Given the description of an element on the screen output the (x, y) to click on. 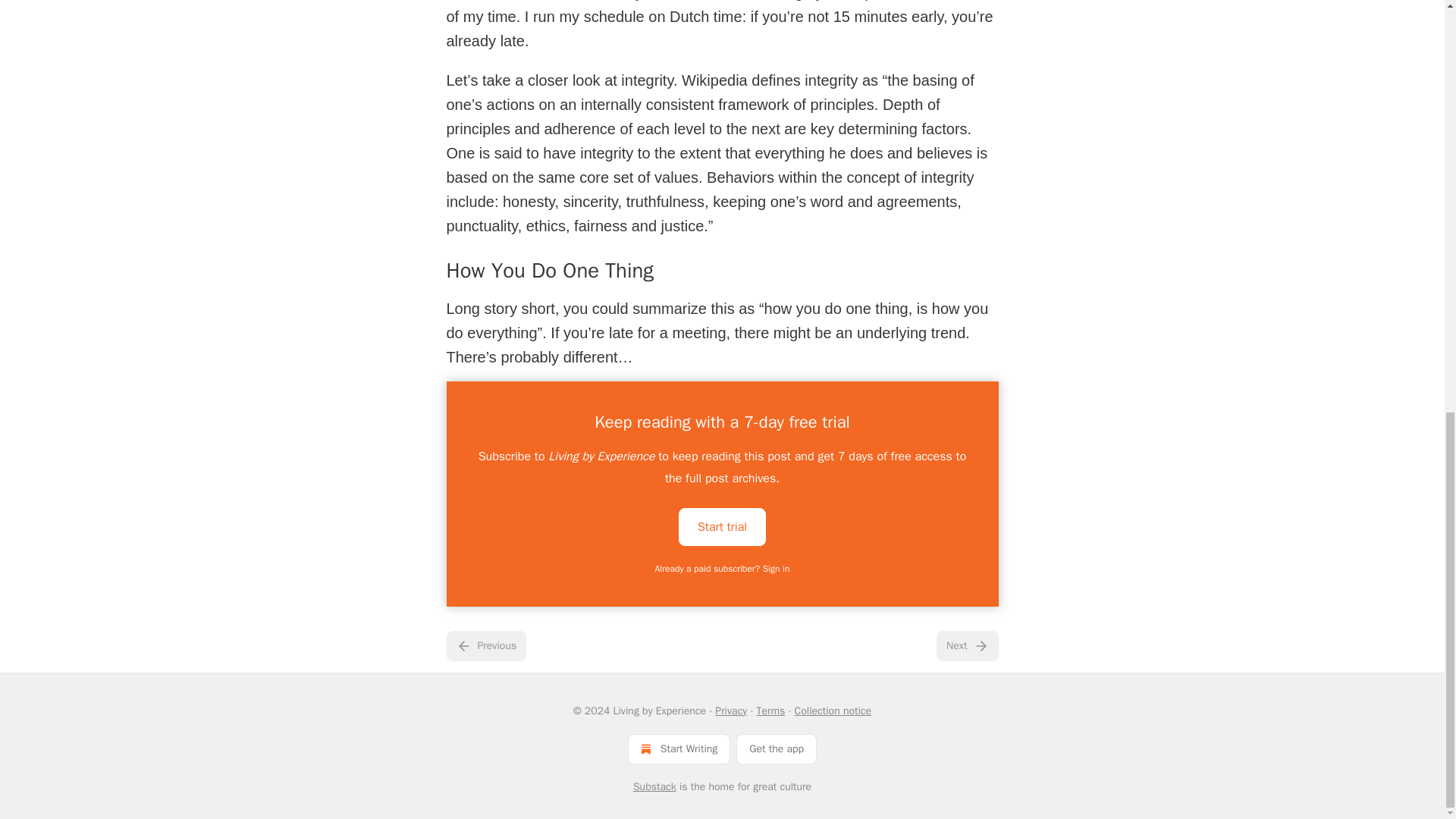
Start Writing (678, 748)
Terms (771, 710)
Substack (655, 786)
Already a paid subscriber? Sign in (722, 568)
Privacy (730, 710)
Start trial (721, 526)
Start trial (721, 525)
Get the app (776, 748)
Previous (485, 645)
Collection notice (832, 710)
